Given the description of an element on the screen output the (x, y) to click on. 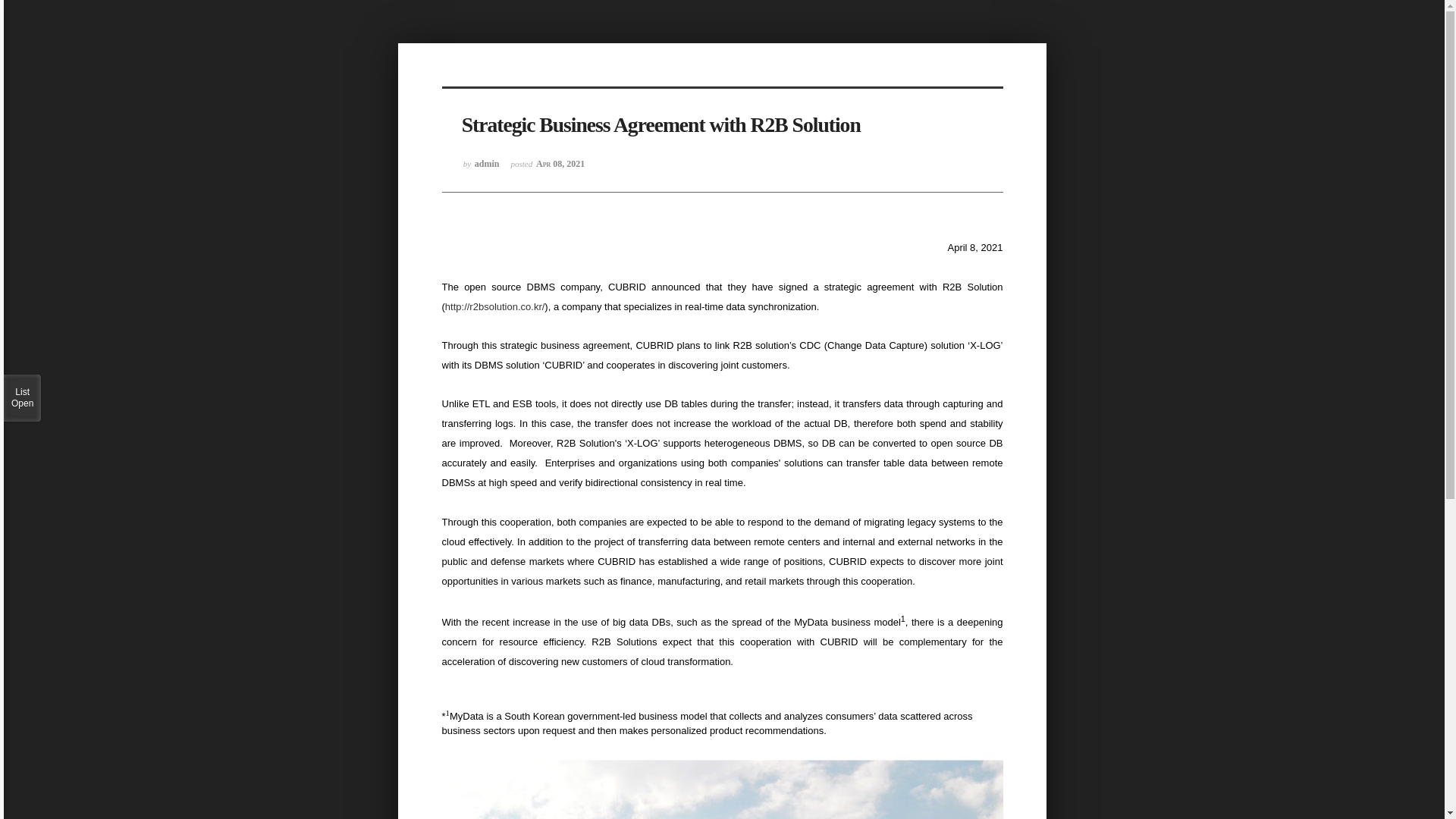
X (2, 9)
2021.04.08 09:56 (547, 169)
